Given the description of an element on the screen output the (x, y) to click on. 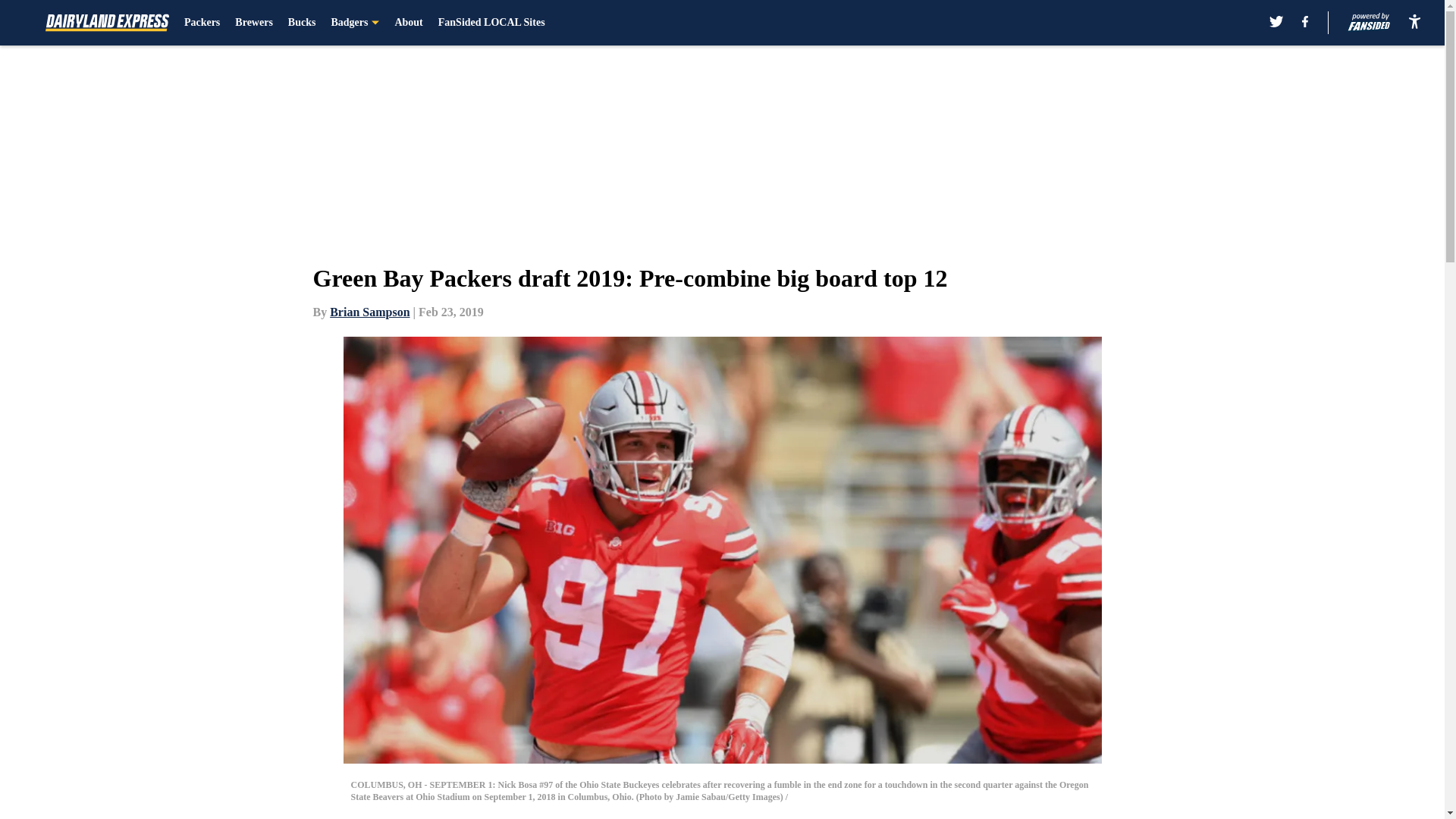
Bucks (301, 22)
About (408, 22)
Brewers (253, 22)
FanSided LOCAL Sites (491, 22)
Packers (201, 22)
Brian Sampson (369, 311)
